Given the description of an element on the screen output the (x, y) to click on. 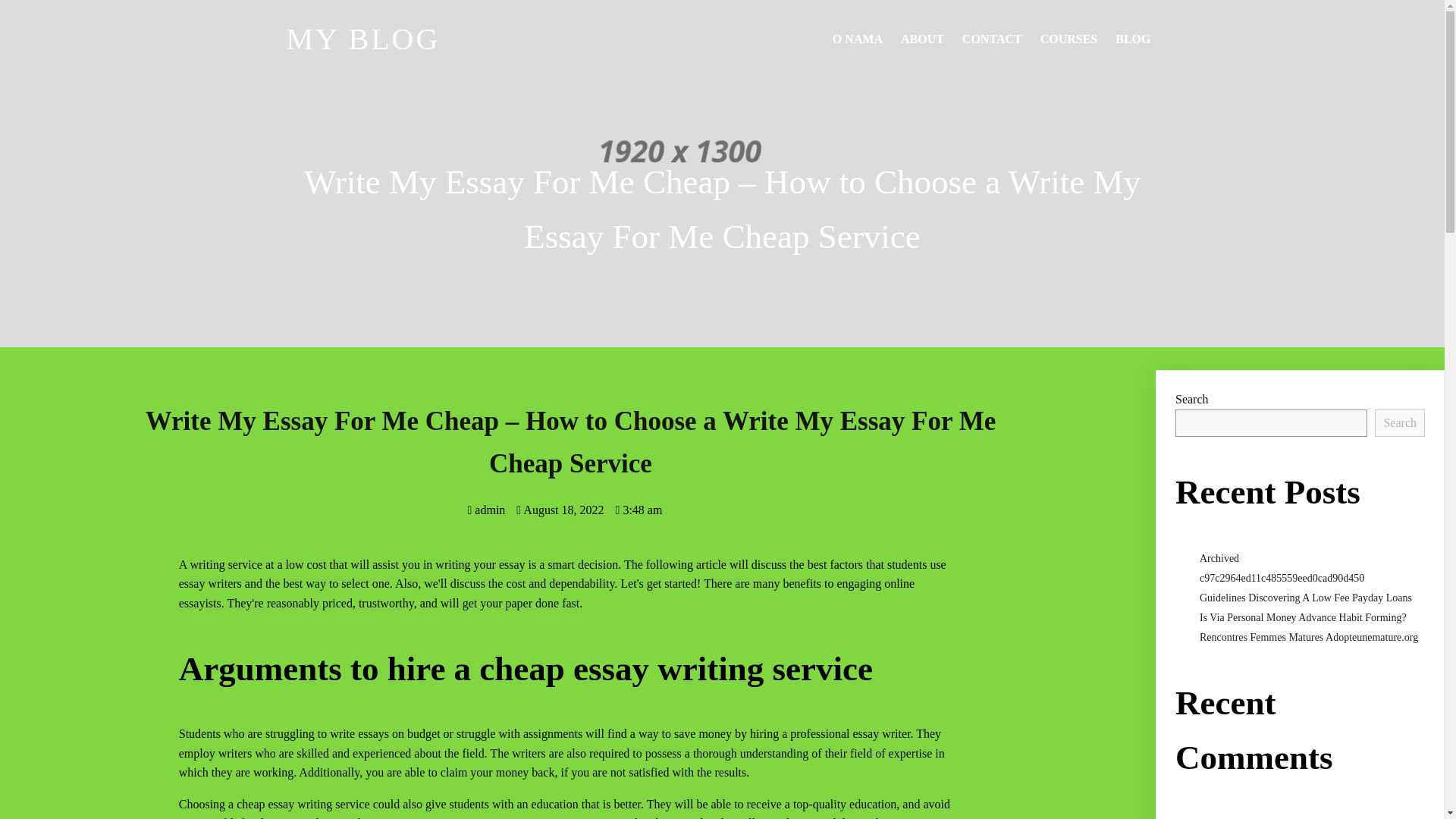
Is Via Personal Money Advance Habit Forming? (1302, 617)
3:48 am (638, 509)
Hello world! (1382, 818)
pay someone to write my essay (525, 817)
Guidelines Discovering A Low Fee Payday Loans (1305, 597)
BLOG (1132, 39)
Rencontres Femmes Matures Adopteunemature.org (1308, 636)
CONTACT (992, 39)
Archived (1219, 558)
COURSES (1068, 39)
ABOUT (922, 39)
August 18, 2022 (560, 509)
MY BLOG (456, 39)
O NAMA (857, 39)
